Given the description of an element on the screen output the (x, y) to click on. 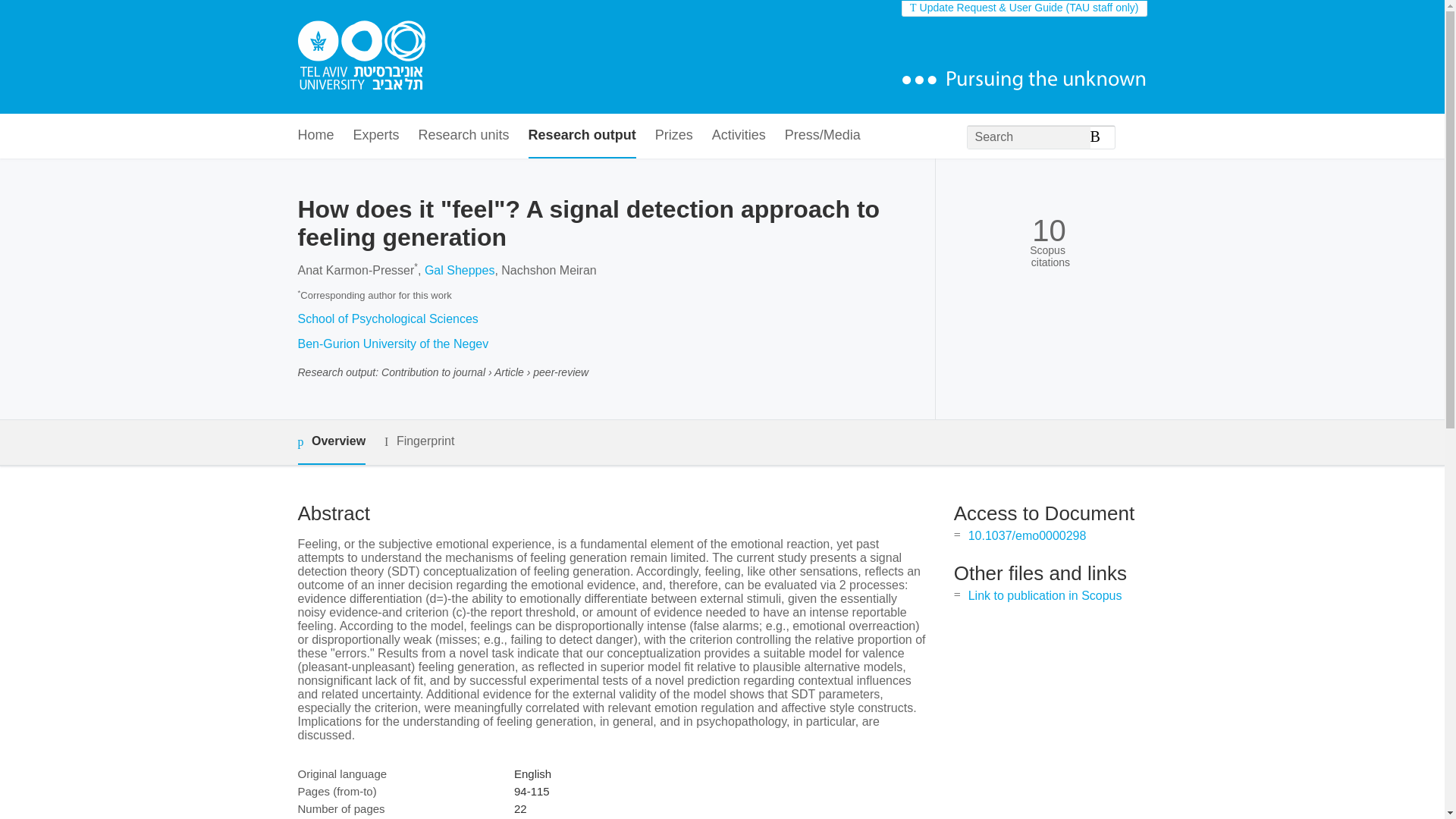
Gal Sheppes (460, 269)
Research output (582, 135)
Overview (331, 442)
Fingerprint (419, 441)
Experts (375, 135)
Tel Aviv University Home (361, 56)
Research units (464, 135)
Ben-Gurion University of the Negev (392, 343)
School of Psychological Sciences (387, 318)
Link to publication in Scopus (1045, 594)
Activities (738, 135)
